Given the description of an element on the screen output the (x, y) to click on. 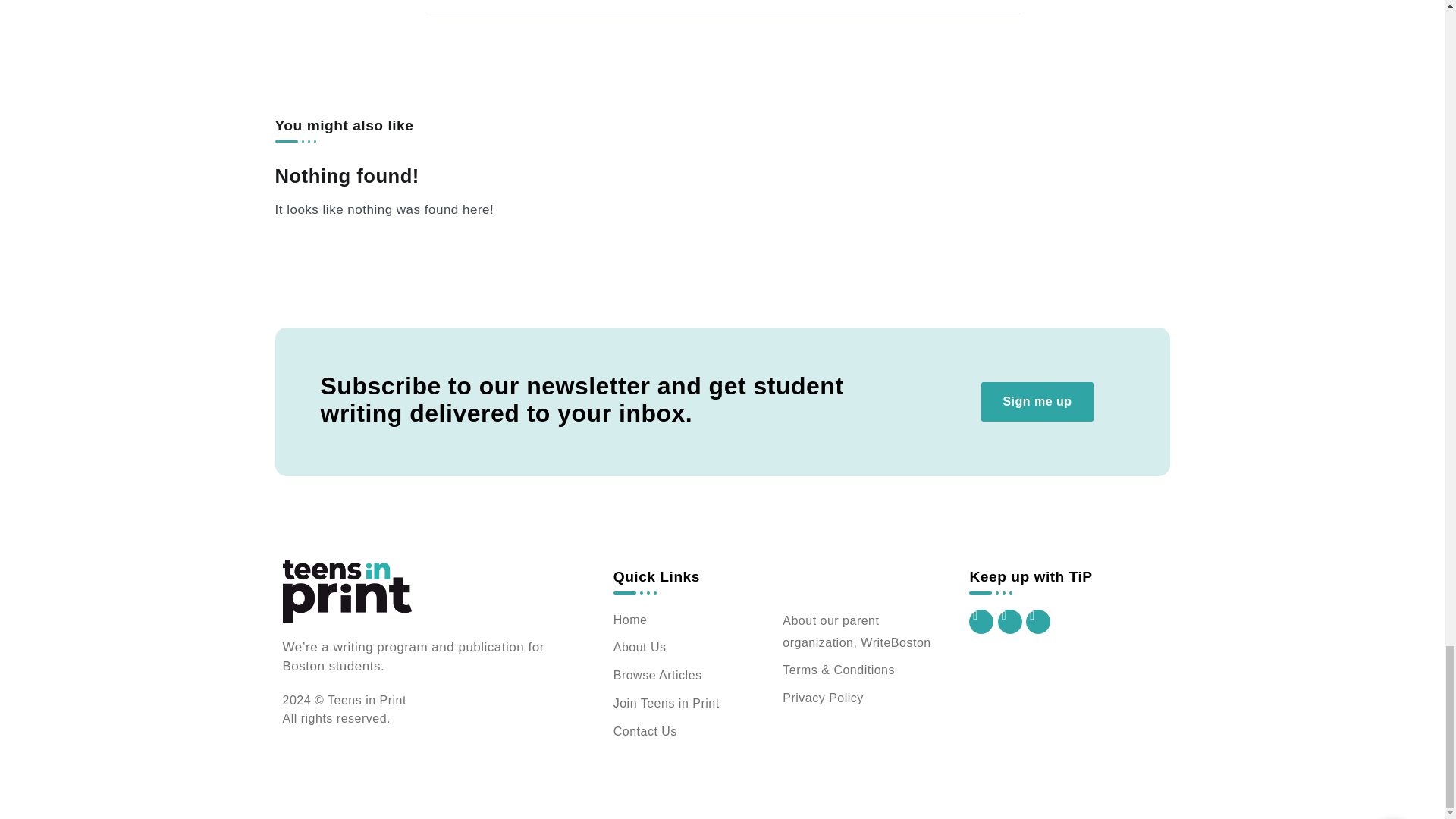
Teens in Print (346, 590)
